Given the description of an element on the screen output the (x, y) to click on. 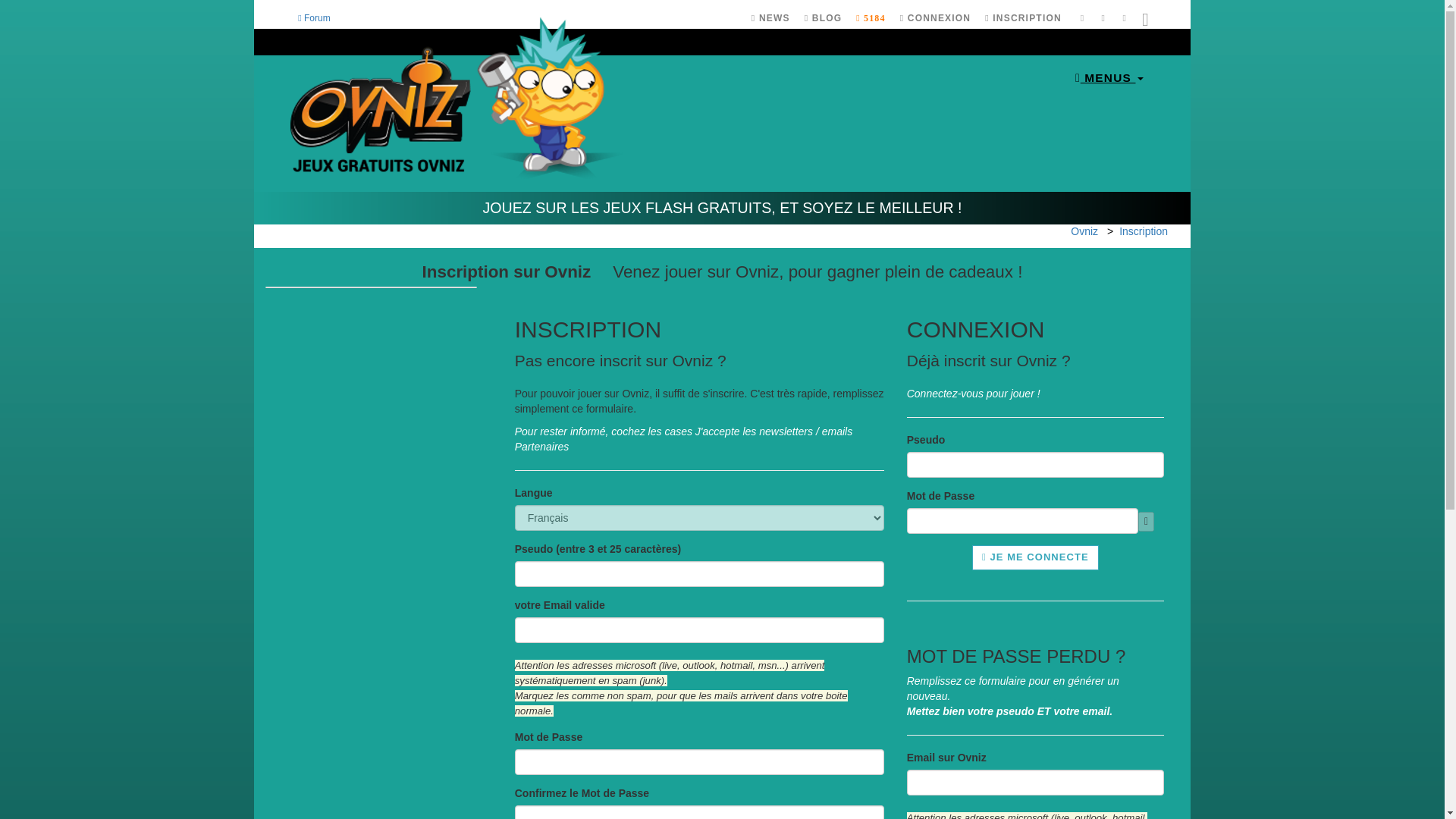
Nouvelles Ovniz (770, 18)
5184 (870, 18)
BLOG (824, 18)
NEWS (770, 18)
CONNEXION (935, 18)
Tombola Ovniz (870, 18)
MP (1081, 19)
INSCRIPTION (1023, 18)
MENUS (1109, 76)
Forum (313, 19)
logo Ovniz (459, 100)
